Given the description of an element on the screen output the (x, y) to click on. 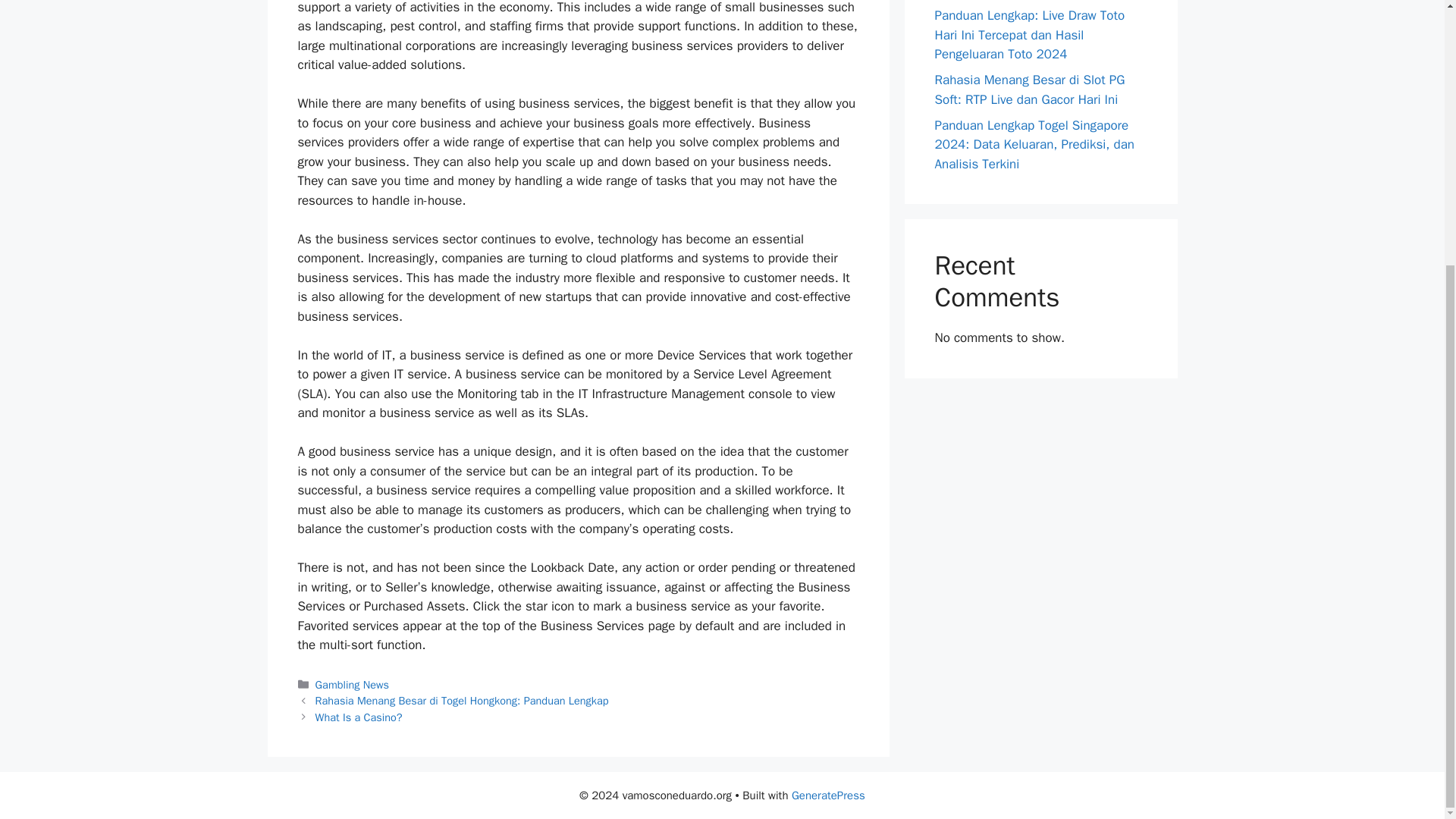
What Is a Casino? (359, 716)
Gambling News (351, 684)
GeneratePress (828, 795)
Rahasia Menang Besar di Togel Hongkong: Panduan Lengkap (461, 700)
